Given the description of an element on the screen output the (x, y) to click on. 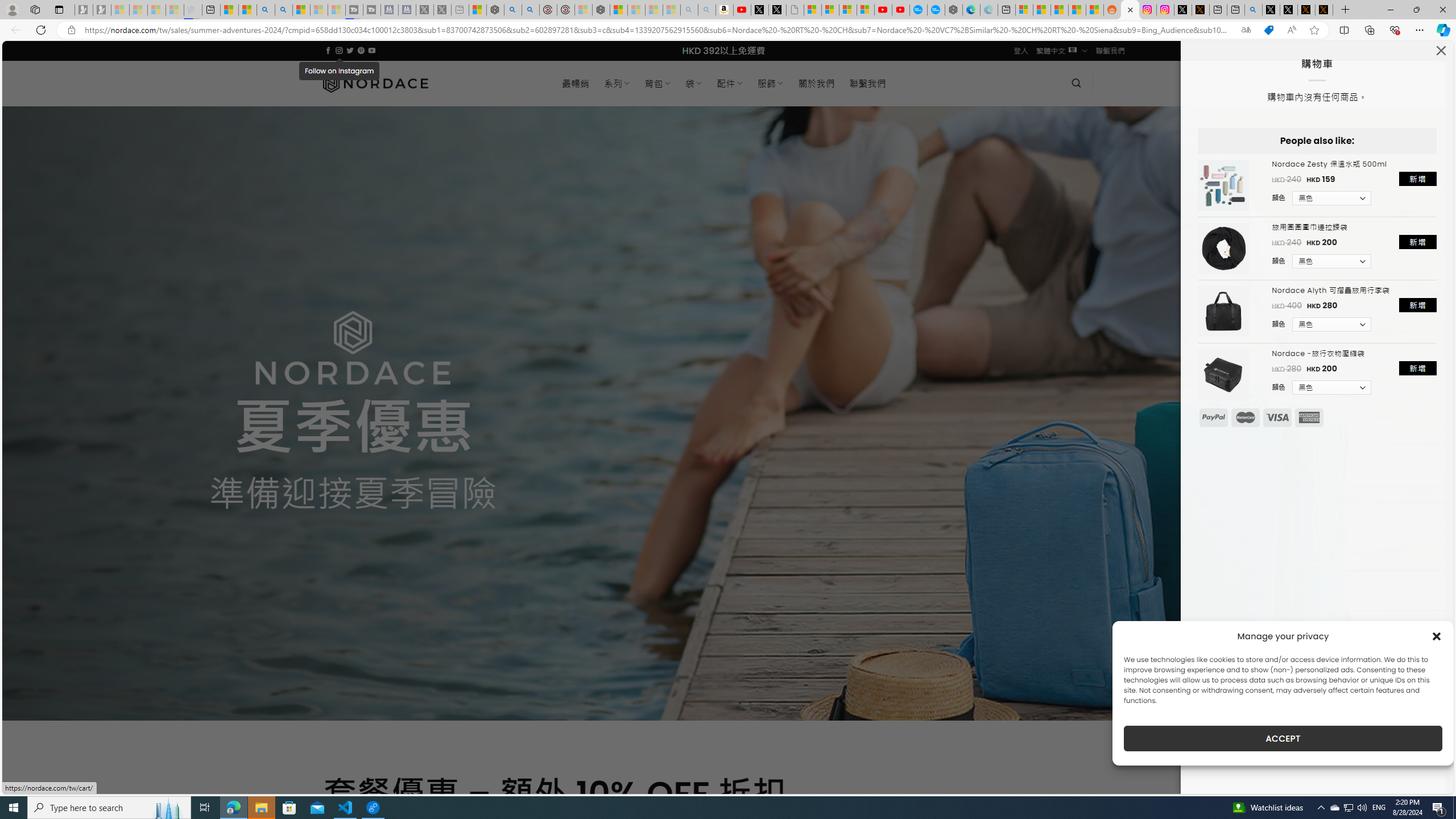
Show translate options (1245, 29)
